Given the description of an element on the screen output the (x, y) to click on. 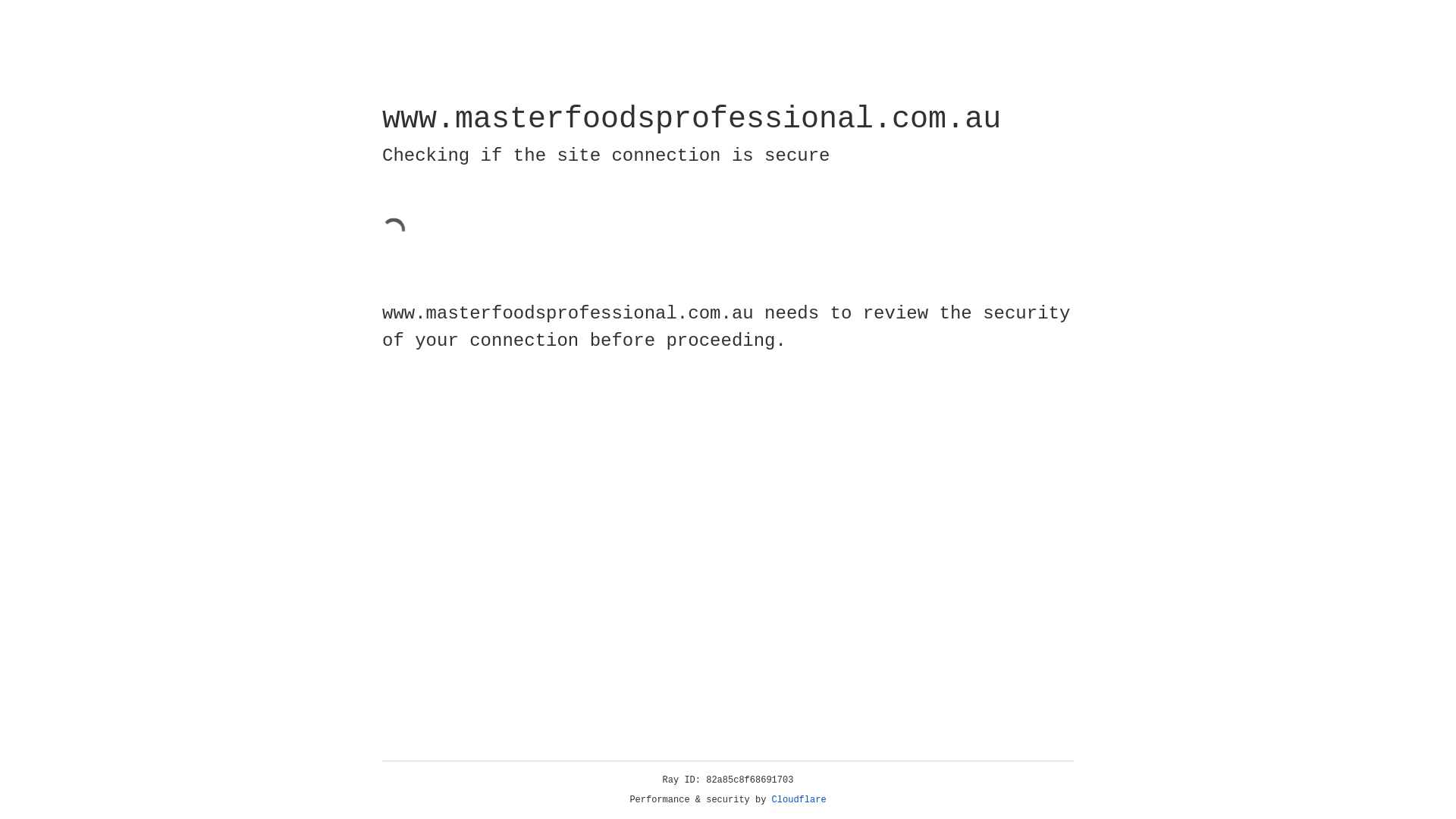
Cloudflare Element type: text (798, 799)
